Given the description of an element on the screen output the (x, y) to click on. 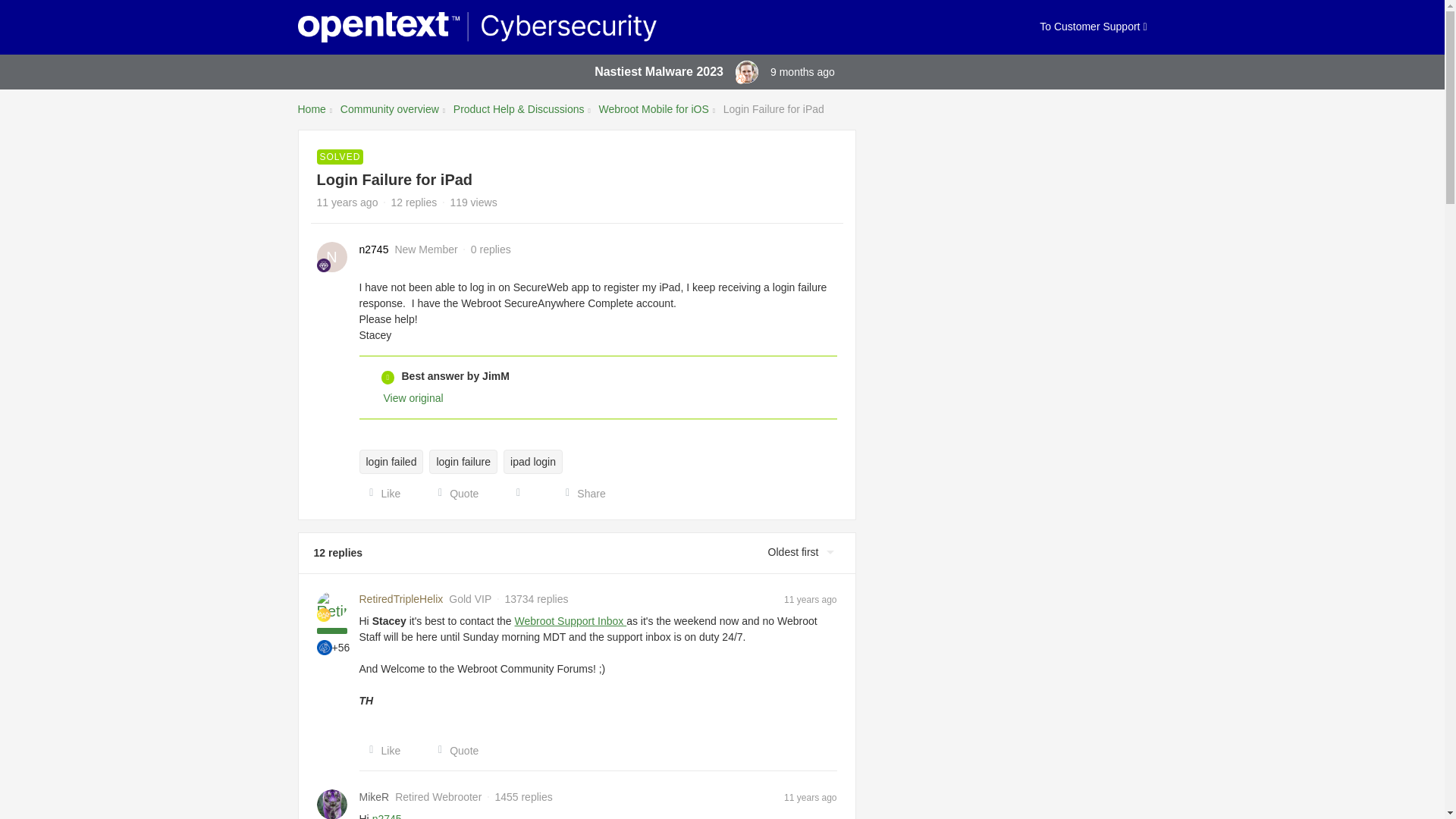
n2745 (373, 249)
N (332, 256)
New Member (323, 264)
Webroot Mobile for iOS (653, 109)
Like (380, 493)
login failure (463, 461)
login failed (391, 461)
RetiredTripleHelix (401, 599)
Quote (453, 750)
Administrator (740, 78)
ipad login (532, 461)
RetiredTripleHelix (401, 599)
12 replies (414, 202)
View original (414, 398)
To Customer Support (1093, 26)
